Given the description of an element on the screen output the (x, y) to click on. 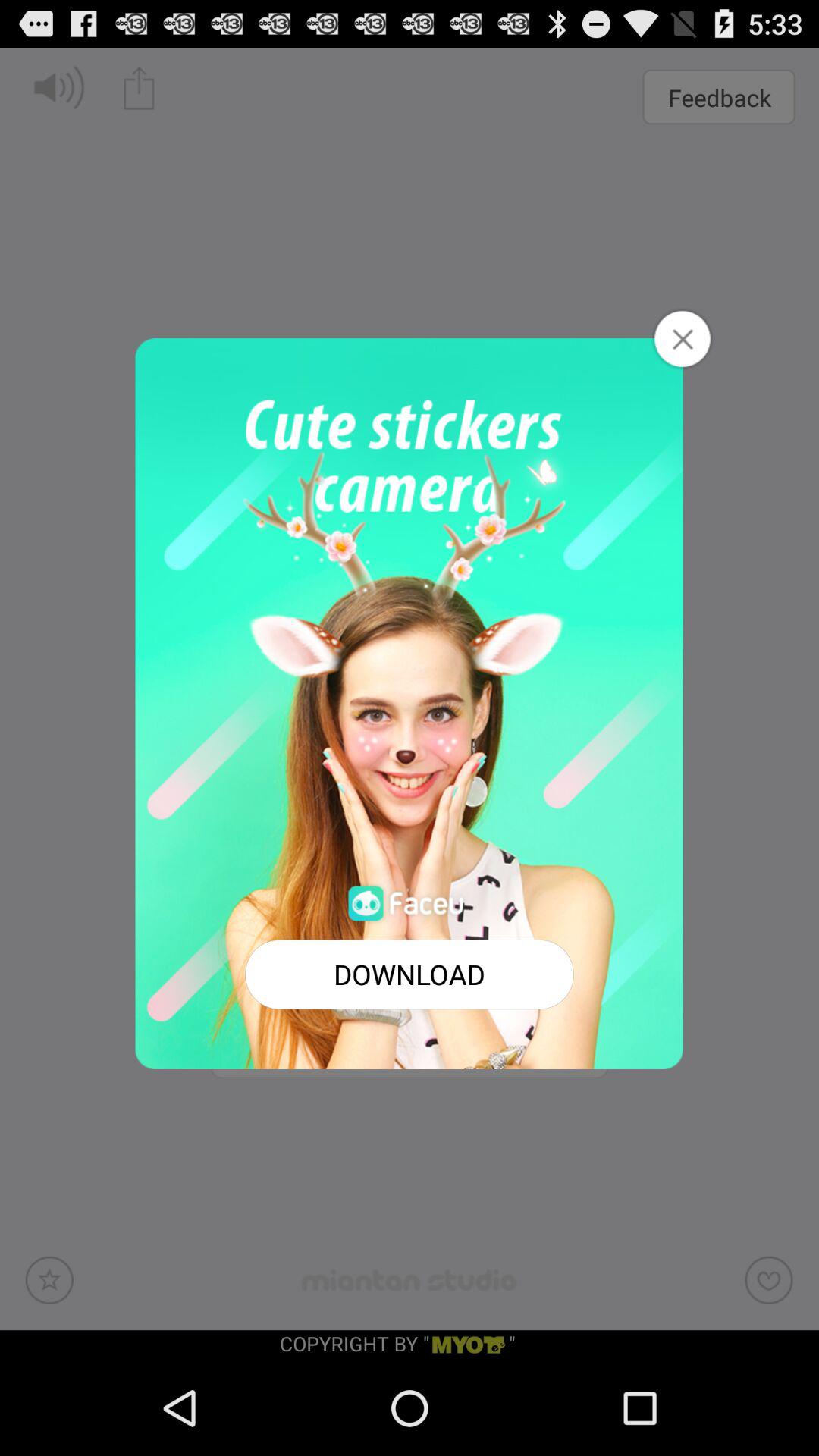
swipe until download item (409, 974)
